Given the description of an element on the screen output the (x, y) to click on. 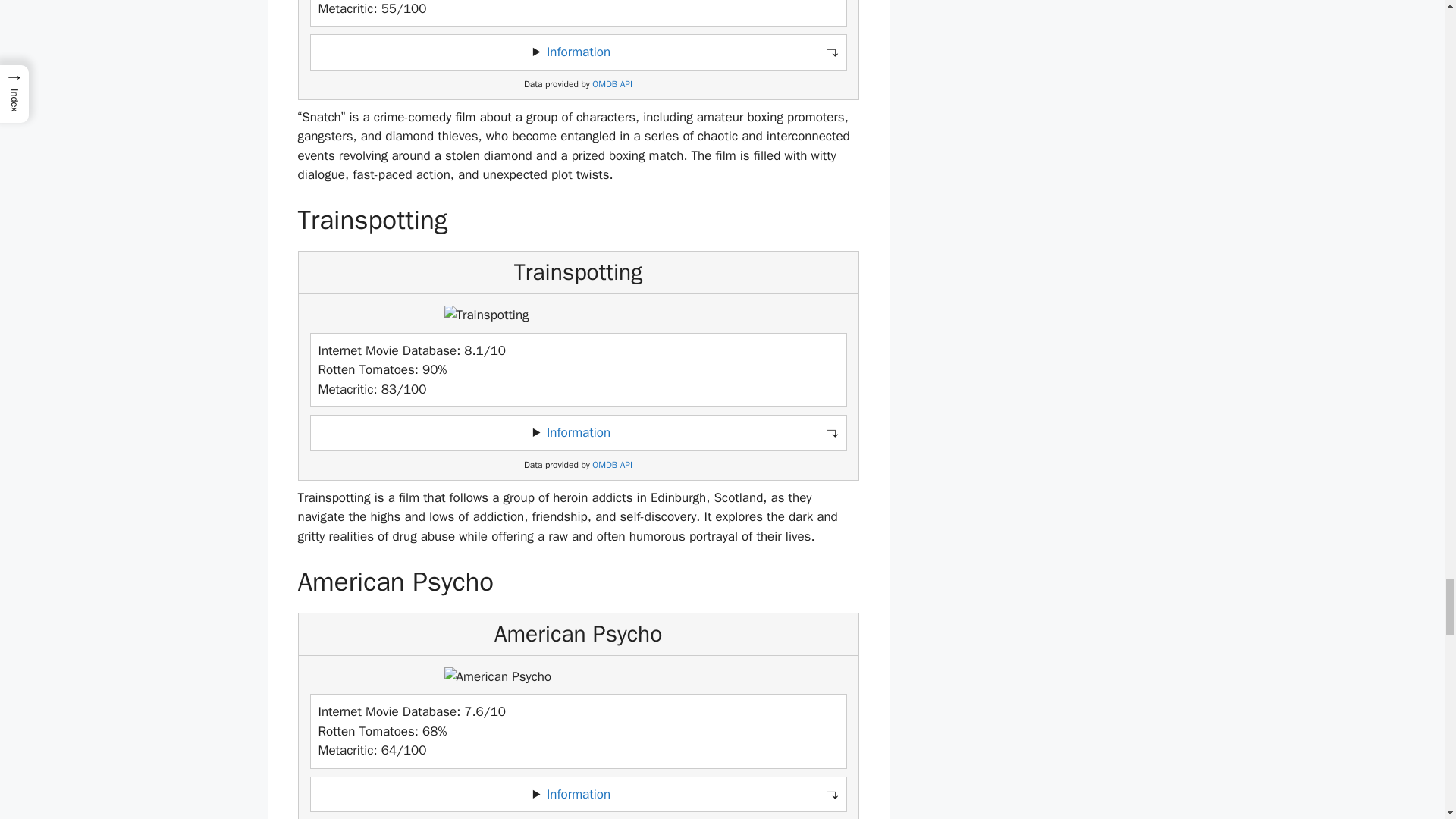
Information (578, 51)
OMDB API (611, 84)
Information (578, 432)
OMDB API (611, 464)
